Given the description of an element on the screen output the (x, y) to click on. 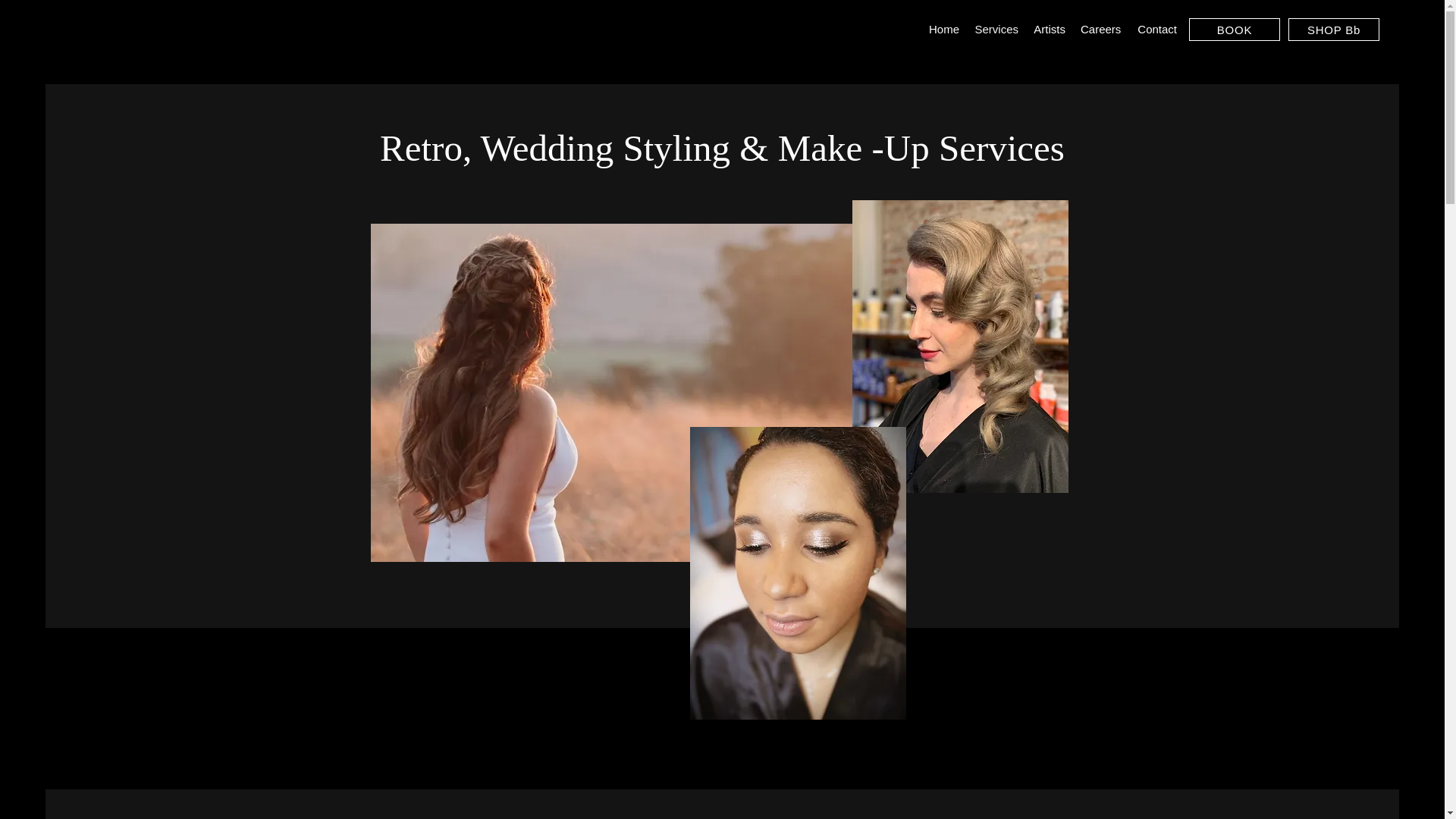
Artists (1049, 29)
SHOP Bb (1333, 29)
Contact (1156, 29)
Home (942, 29)
BOOK (1234, 29)
Careers (1100, 29)
Services (996, 29)
